Given the description of an element on the screen output the (x, y) to click on. 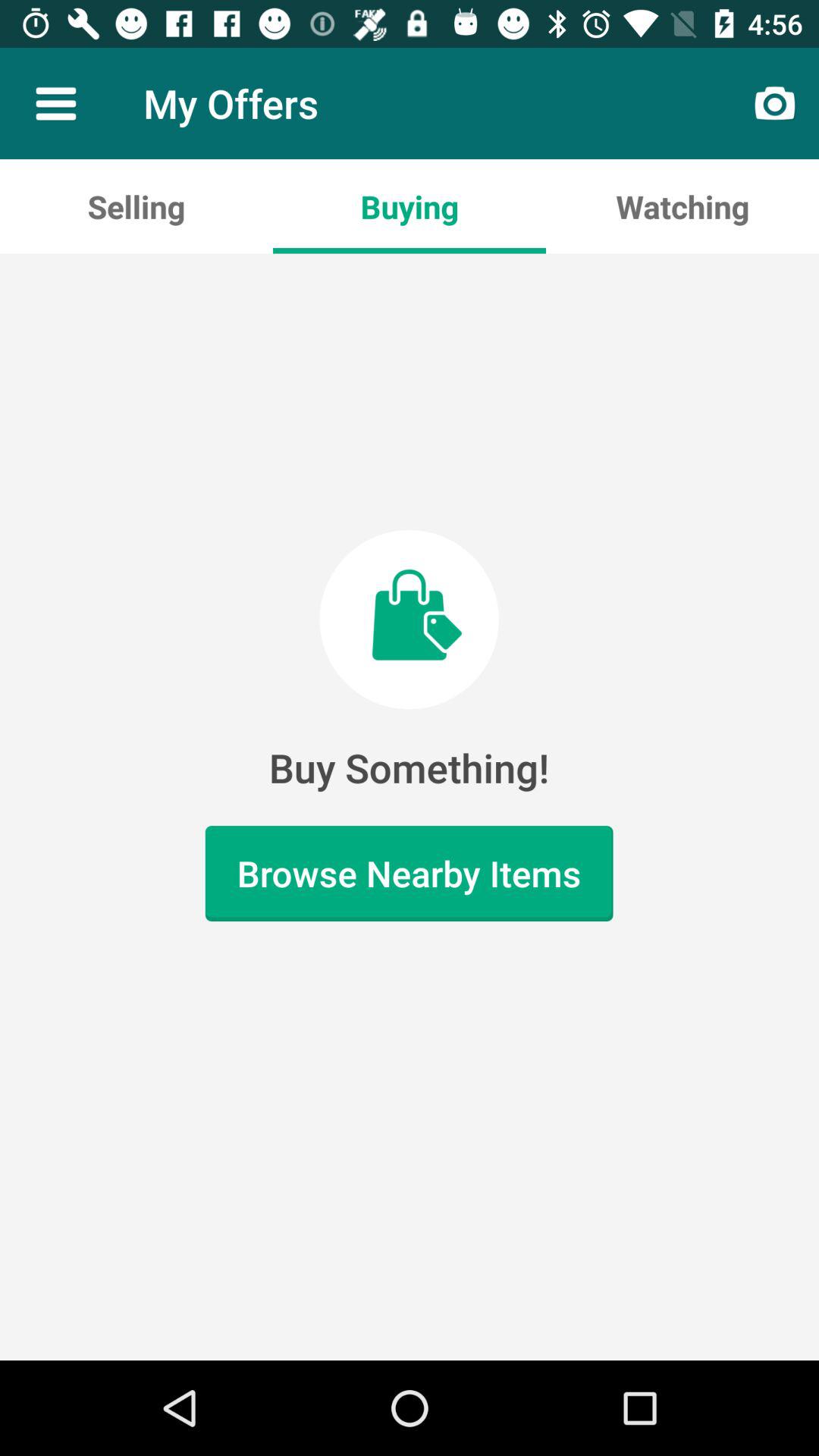
open selling app (136, 206)
